Given the description of an element on the screen output the (x, y) to click on. 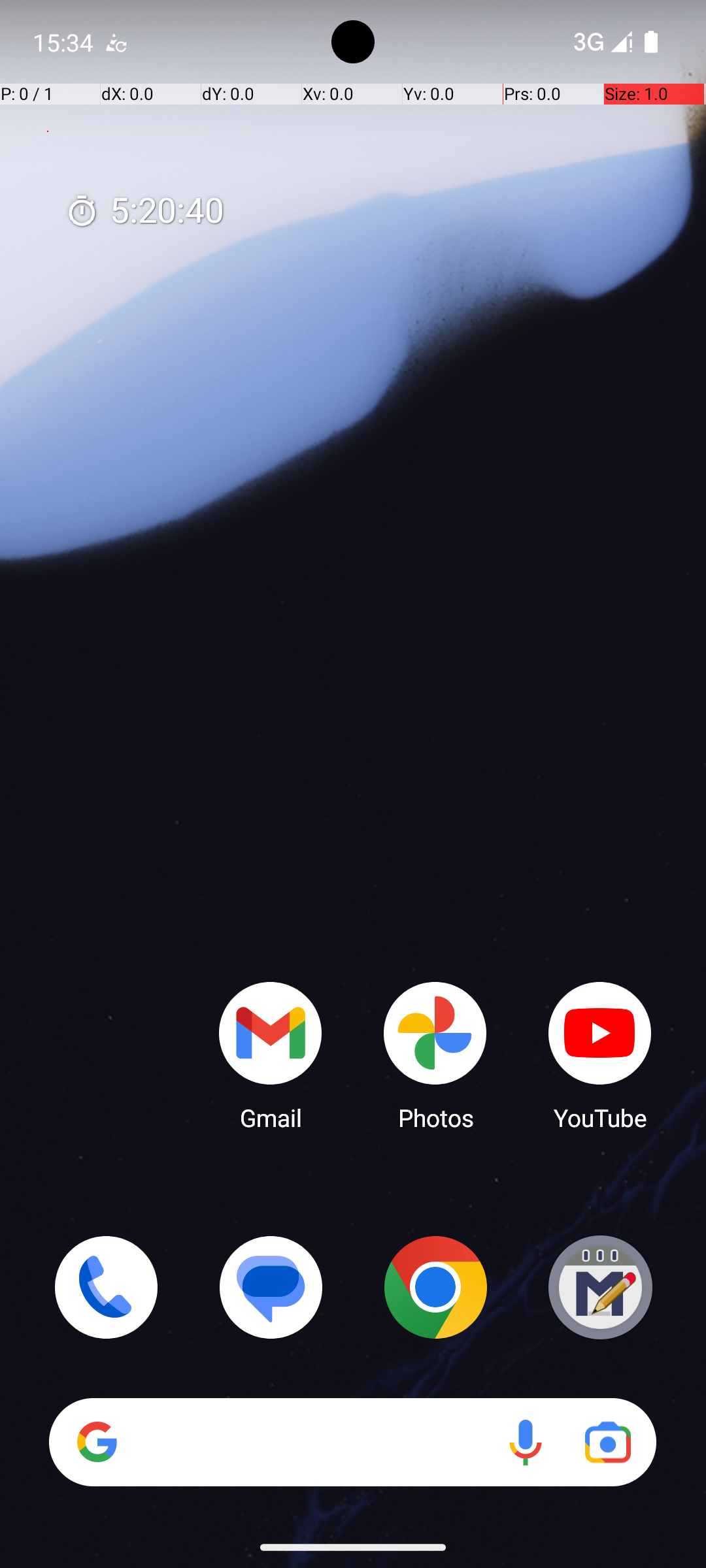
5:20:40 Element type: android.widget.TextView (144, 210)
